Given the description of an element on the screen output the (x, y) to click on. 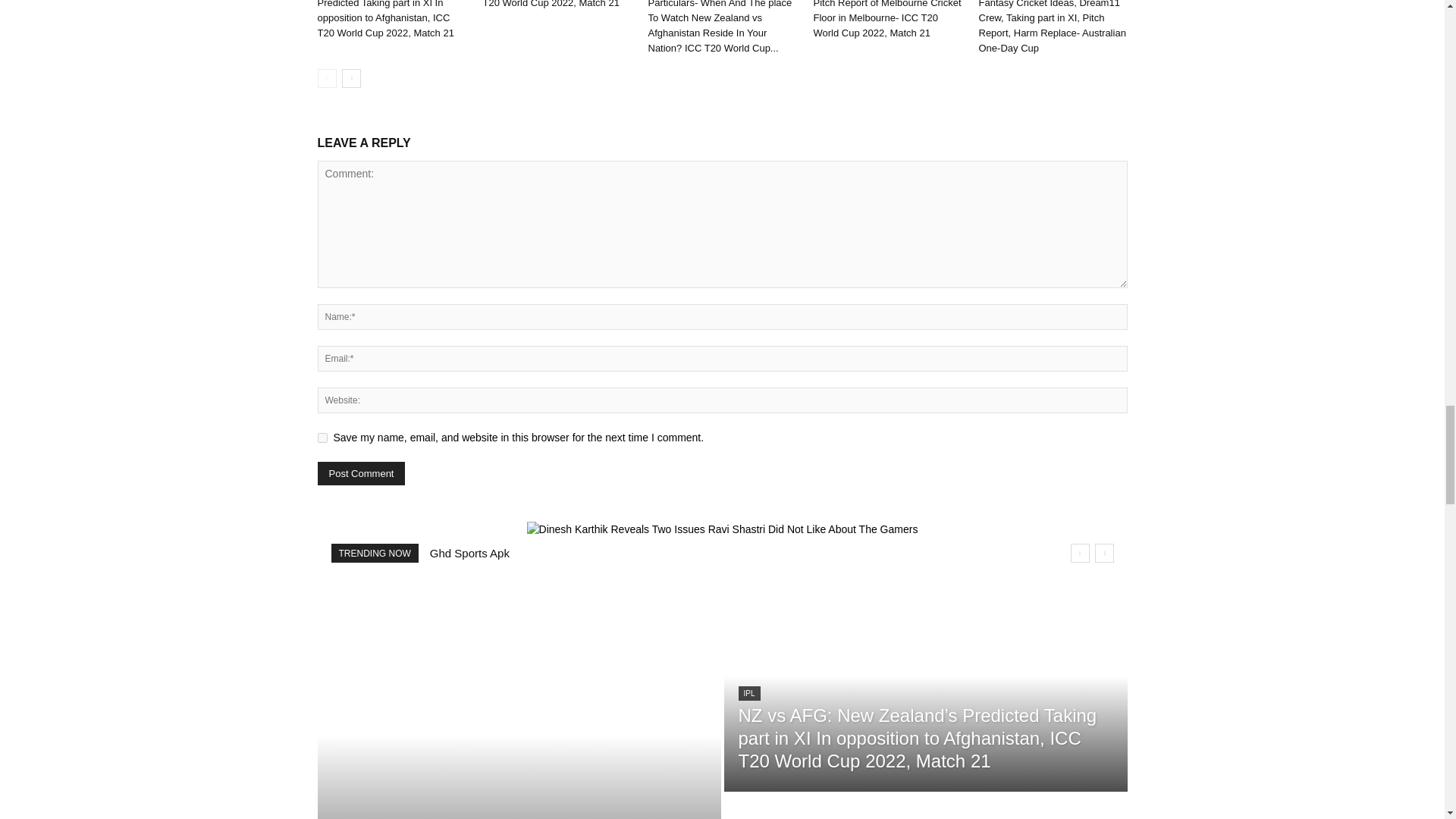
yes (321, 438)
Post Comment (360, 473)
